Given the description of an element on the screen output the (x, y) to click on. 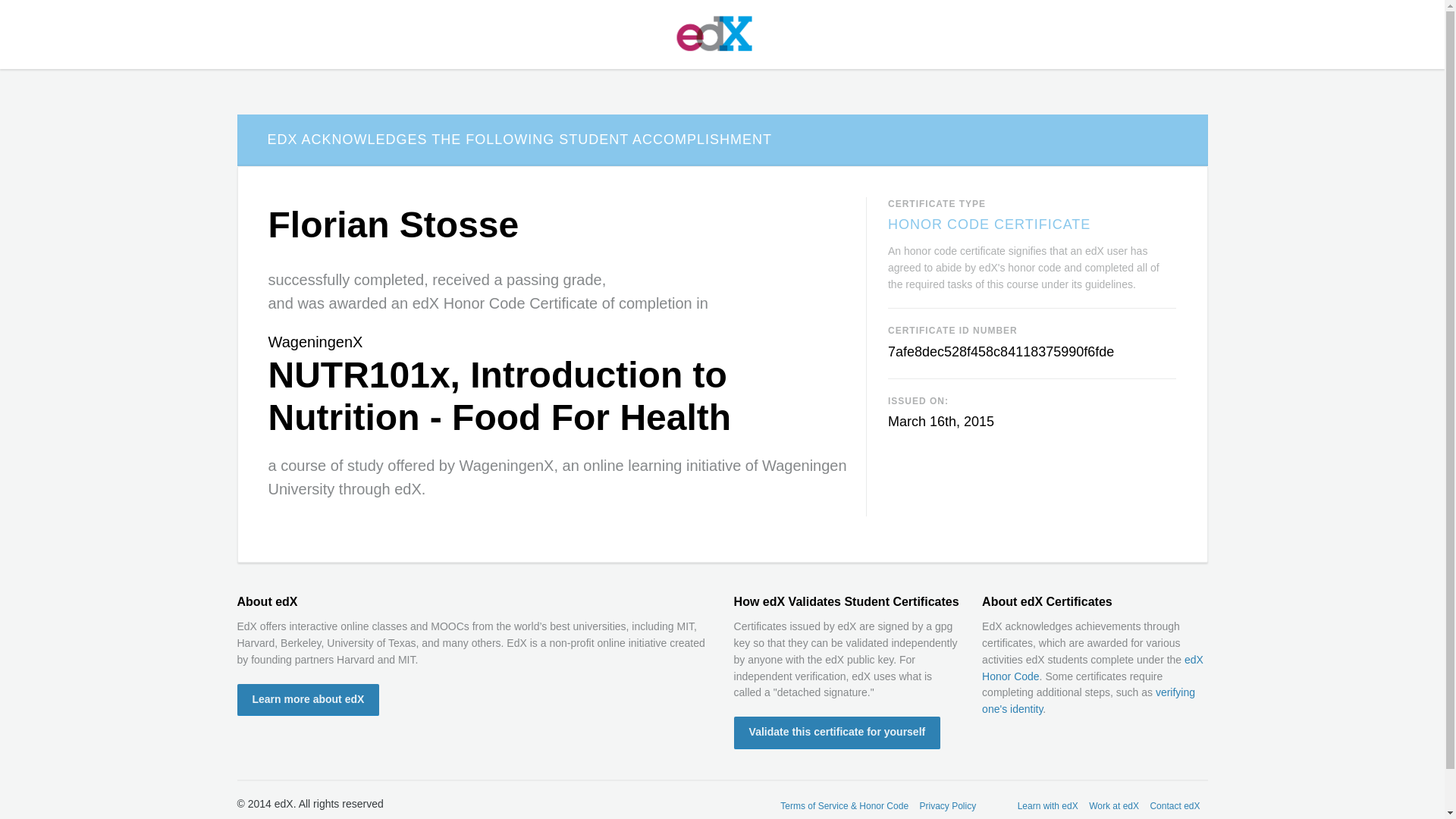
Learn more about edX (306, 699)
Learn with edX (1047, 806)
Work at edX (1113, 806)
Privacy Policy (948, 806)
verifying one's identity (1088, 700)
Validate this certificate for yourself (836, 732)
Contact edX (1174, 806)
edX Honor Code (1092, 668)
